Given the description of an element on the screen output the (x, y) to click on. 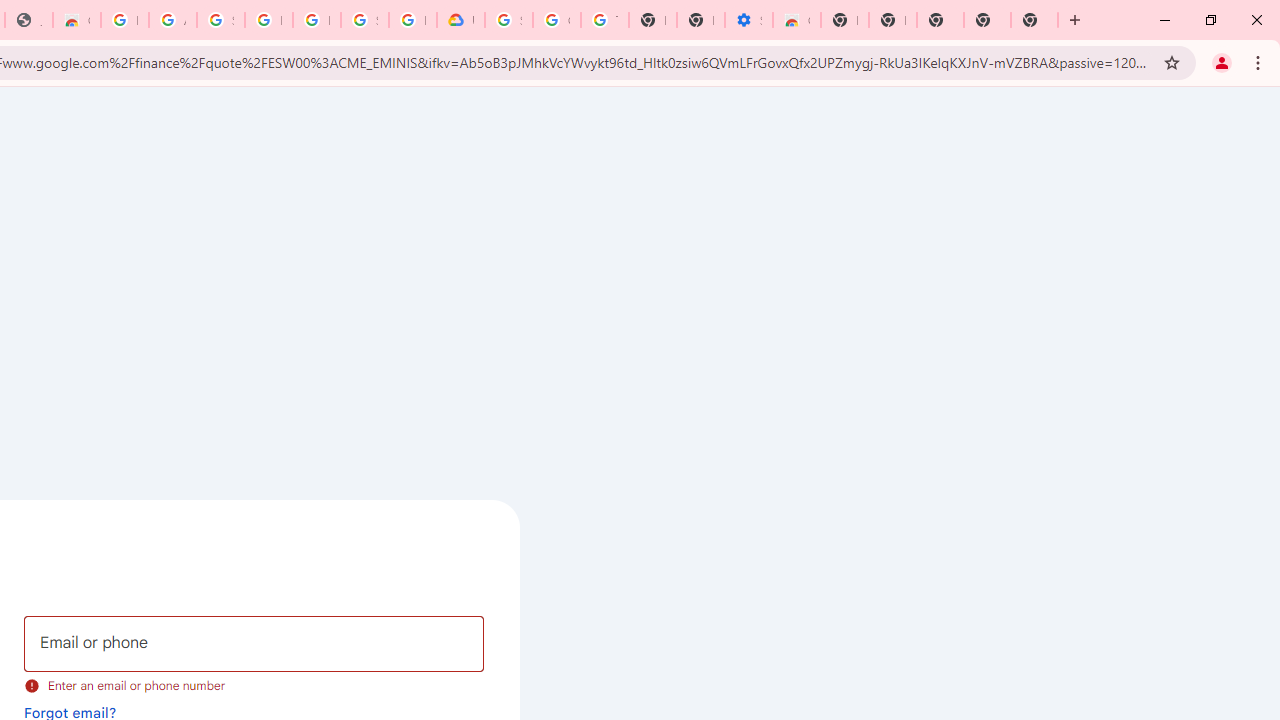
Sign in - Google Accounts (508, 20)
Ad Settings (172, 20)
Chrome Web Store - Accessibility extensions (796, 20)
Google Account Help (556, 20)
New Tab (844, 20)
Turn cookies on or off - Computer - Google Account Help (604, 20)
Email or phone (253, 643)
